Given the description of an element on the screen output the (x, y) to click on. 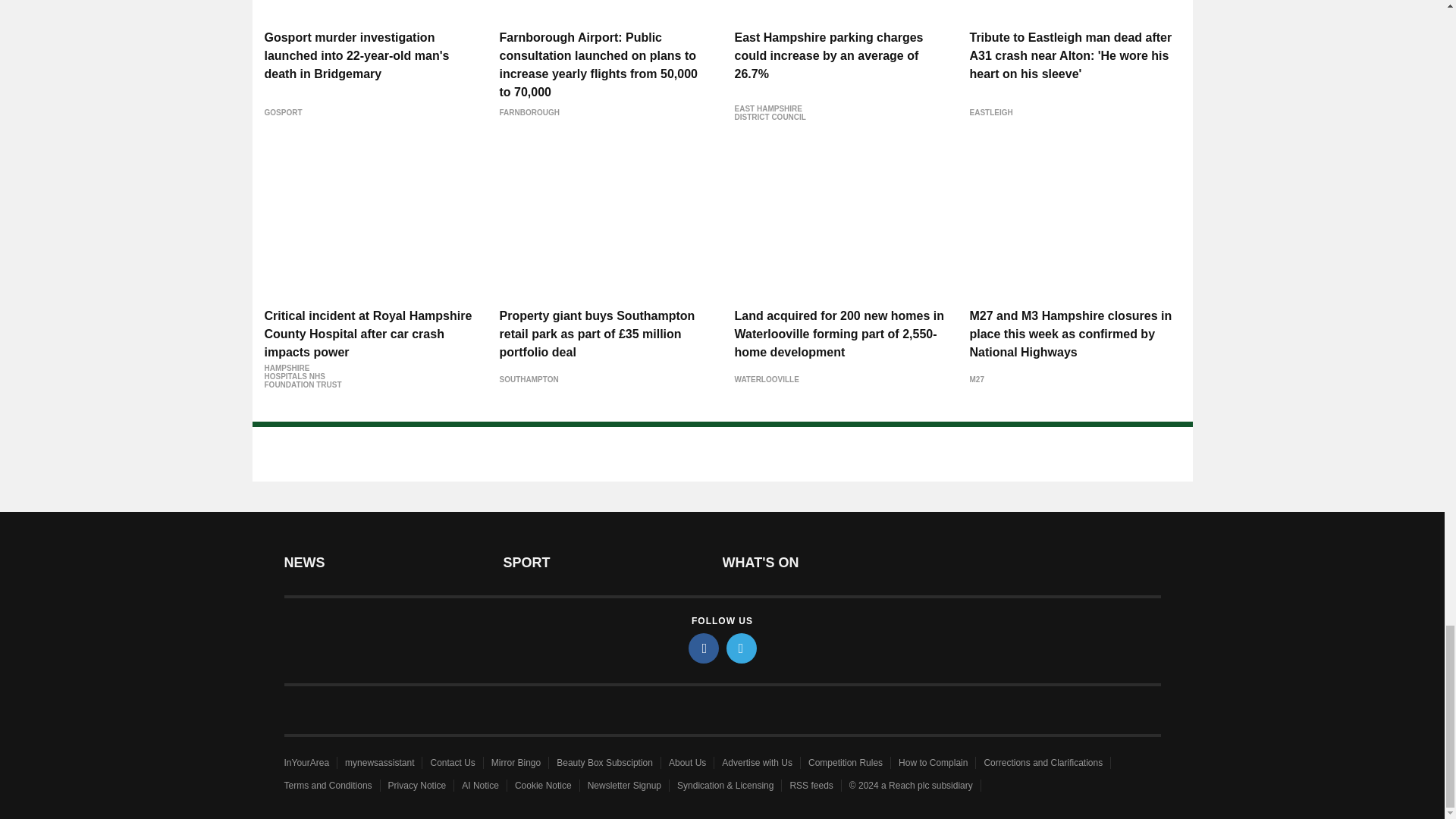
facebook (703, 648)
twitter (741, 648)
